Given the description of an element on the screen output the (x, y) to click on. 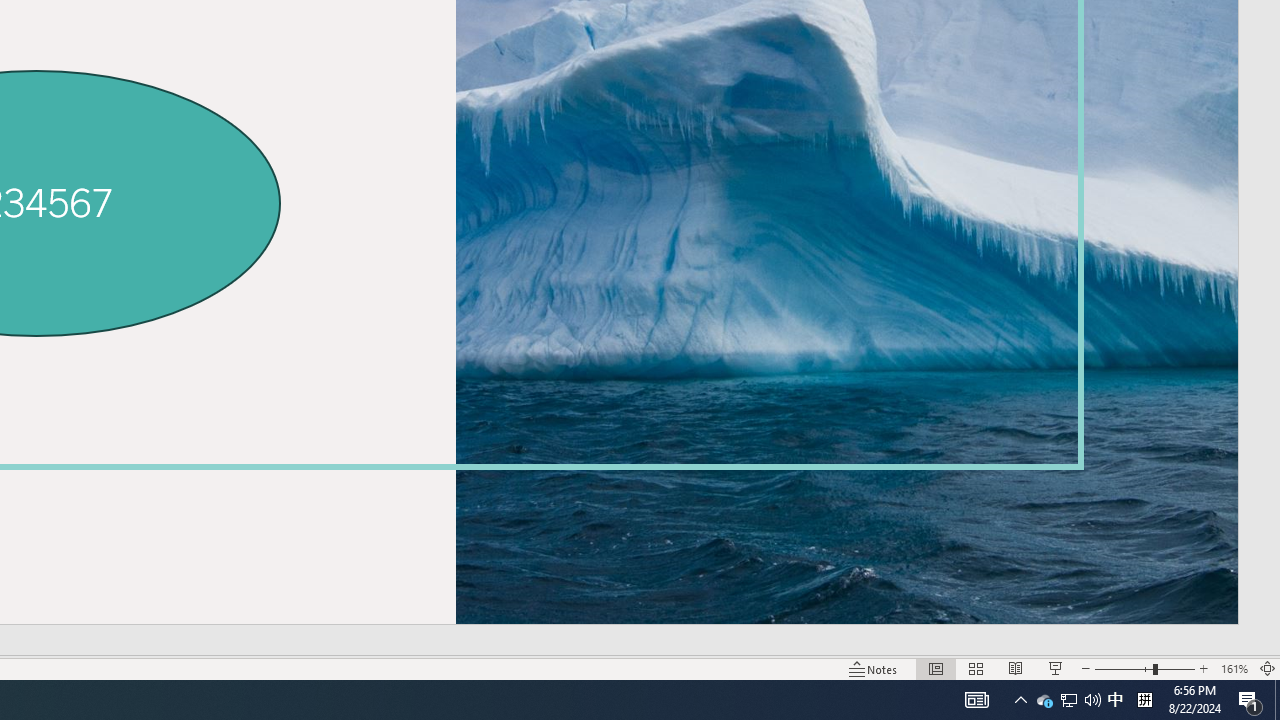
Zoom 161% (1234, 668)
